Given the description of an element on the screen output the (x, y) to click on. 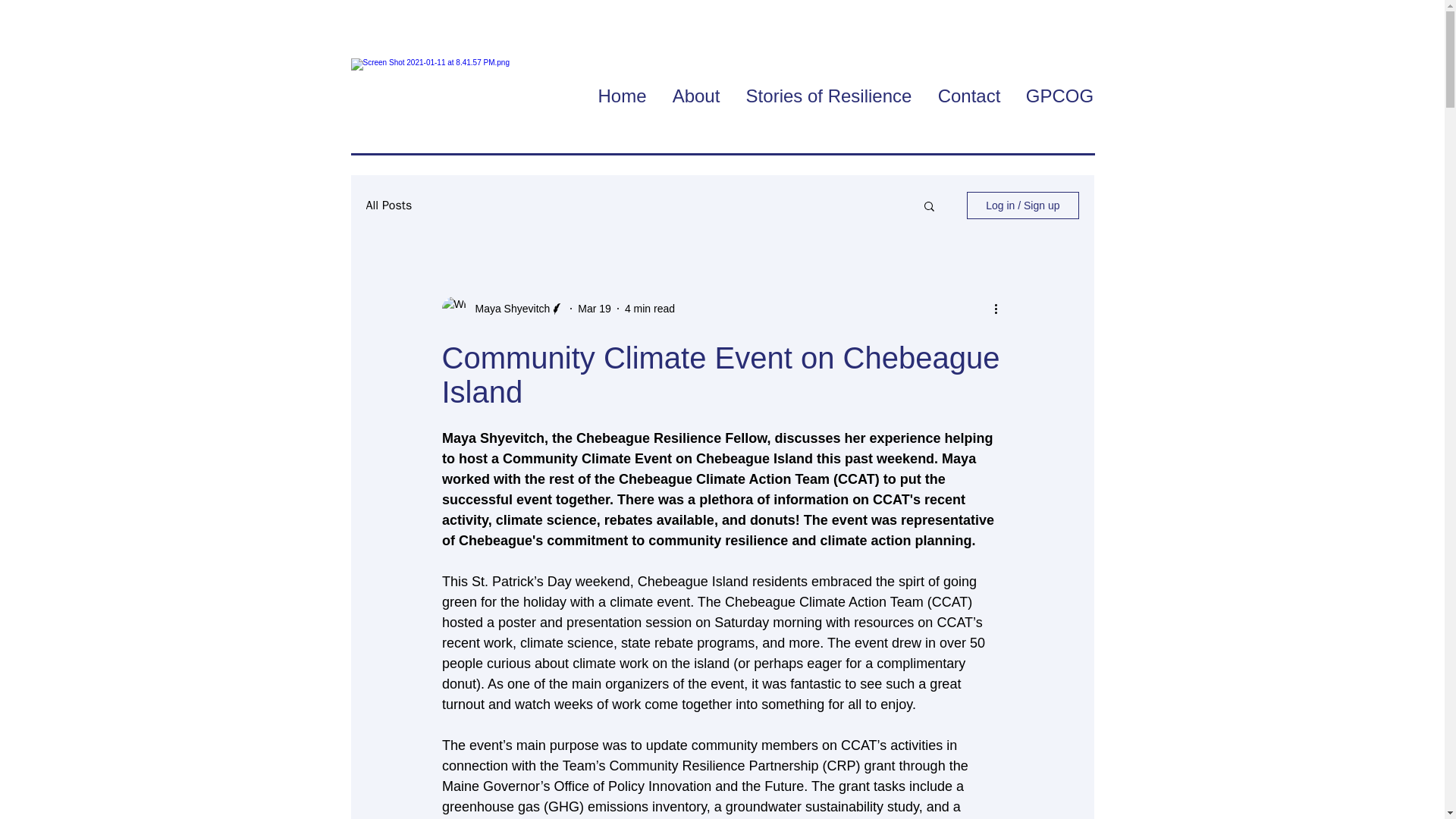
4 min read (649, 307)
Stories of Resilience (828, 95)
Maya Shyevitch (507, 308)
GPCOG (1059, 95)
Mar 19 (594, 307)
All Posts (388, 204)
Home (622, 95)
Contact (968, 95)
